Given the description of an element on the screen output the (x, y) to click on. 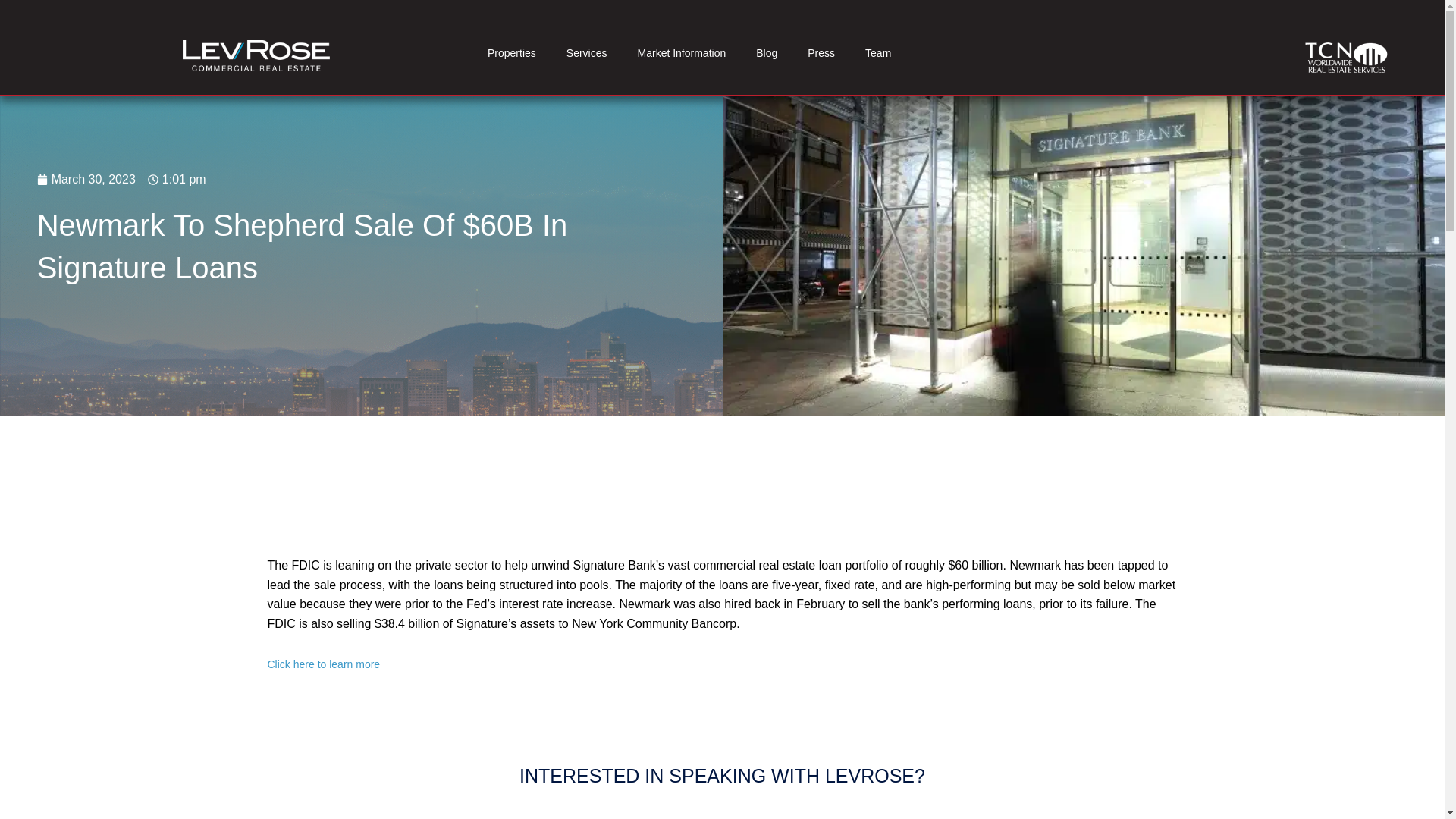
Click here to learn more (323, 664)
Properties (511, 52)
March 30, 2023 (86, 179)
Form 0 (722, 806)
Team (877, 52)
Market Information (682, 52)
Blog (766, 52)
Services (587, 52)
Press (821, 52)
